Given the description of an element on the screen output the (x, y) to click on. 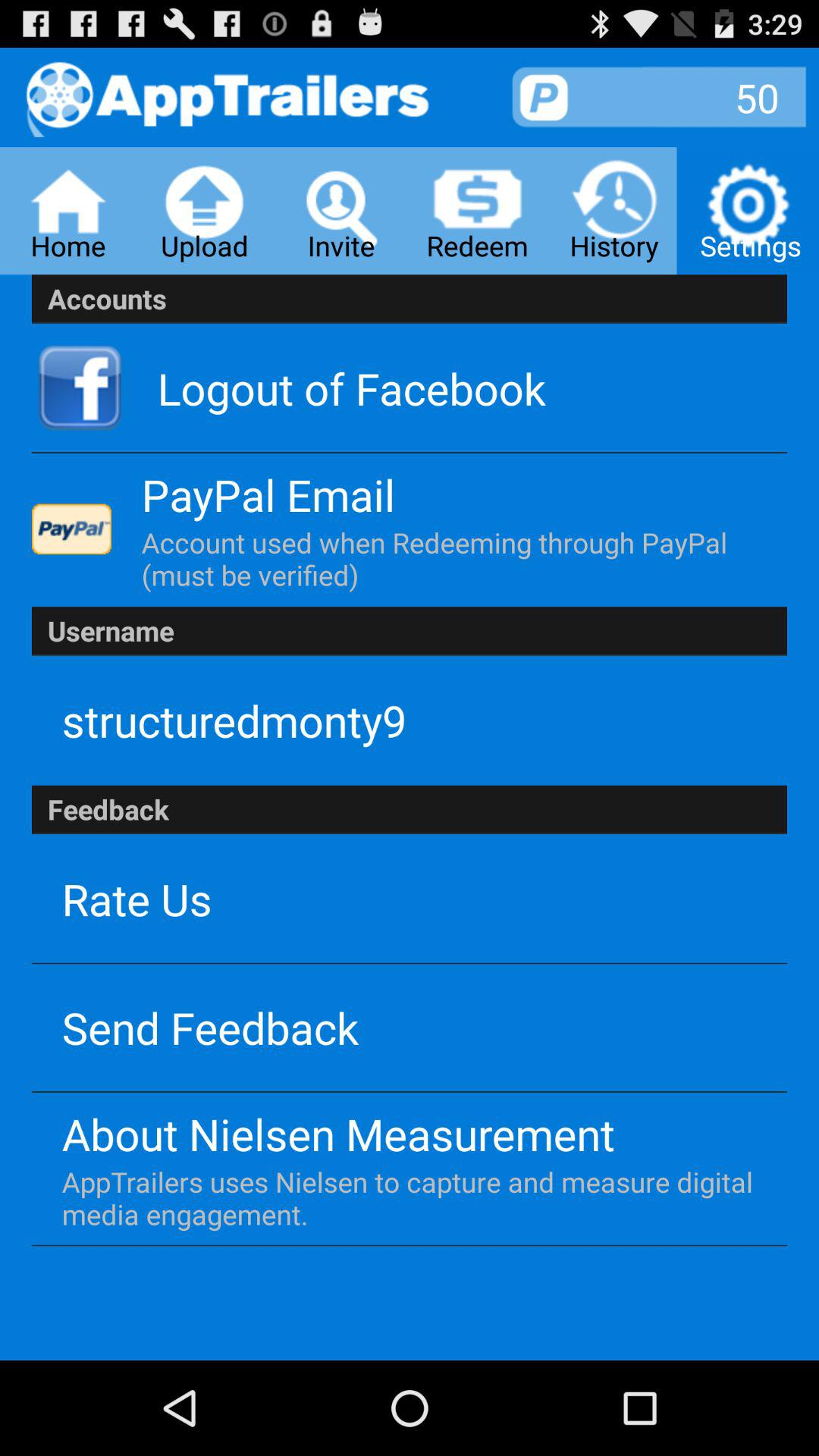
turn on accounts icon (409, 298)
